Given the description of an element on the screen output the (x, y) to click on. 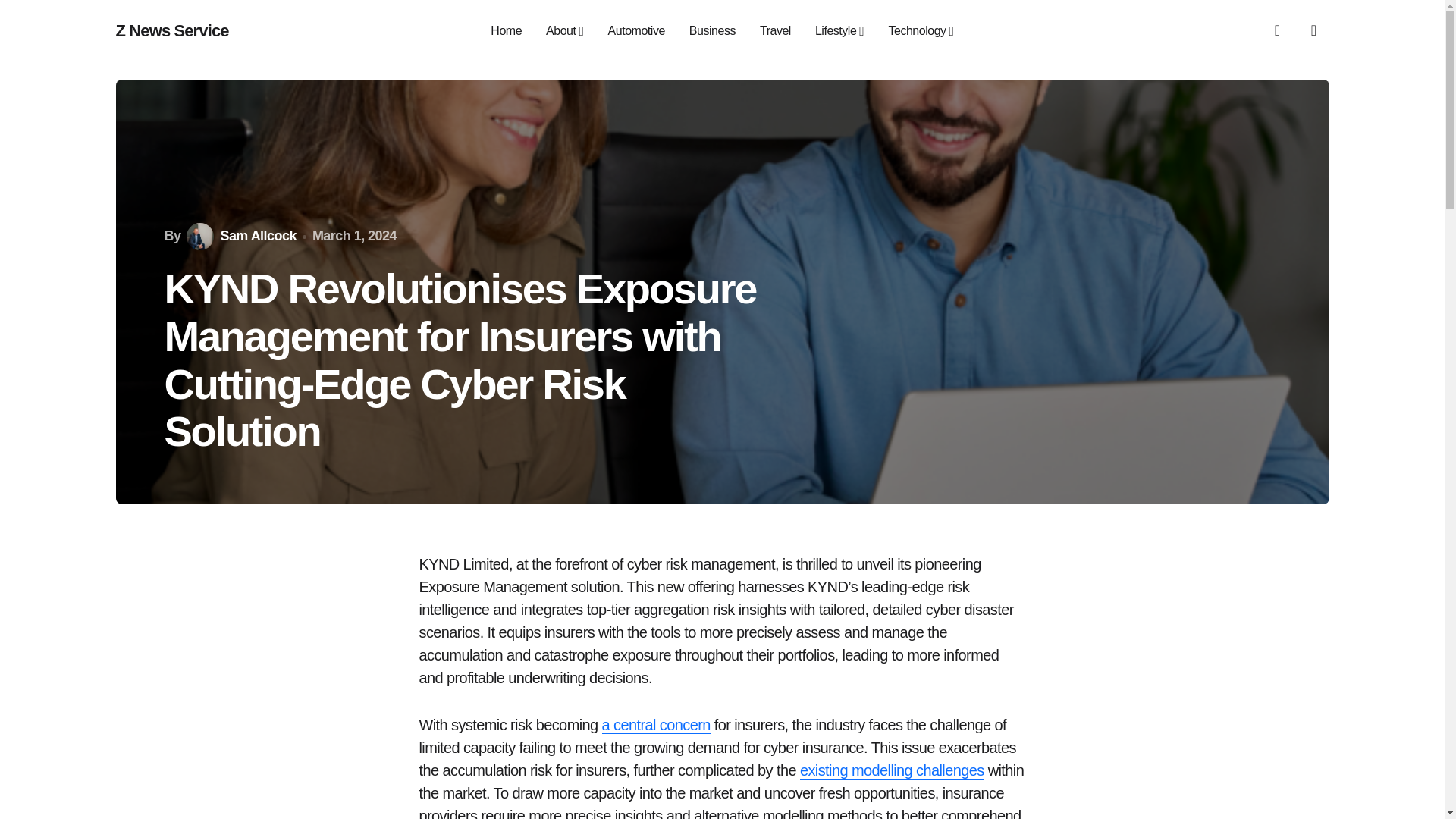
Z News Service (171, 30)
Automotive (636, 30)
